Given the description of an element on the screen output the (x, y) to click on. 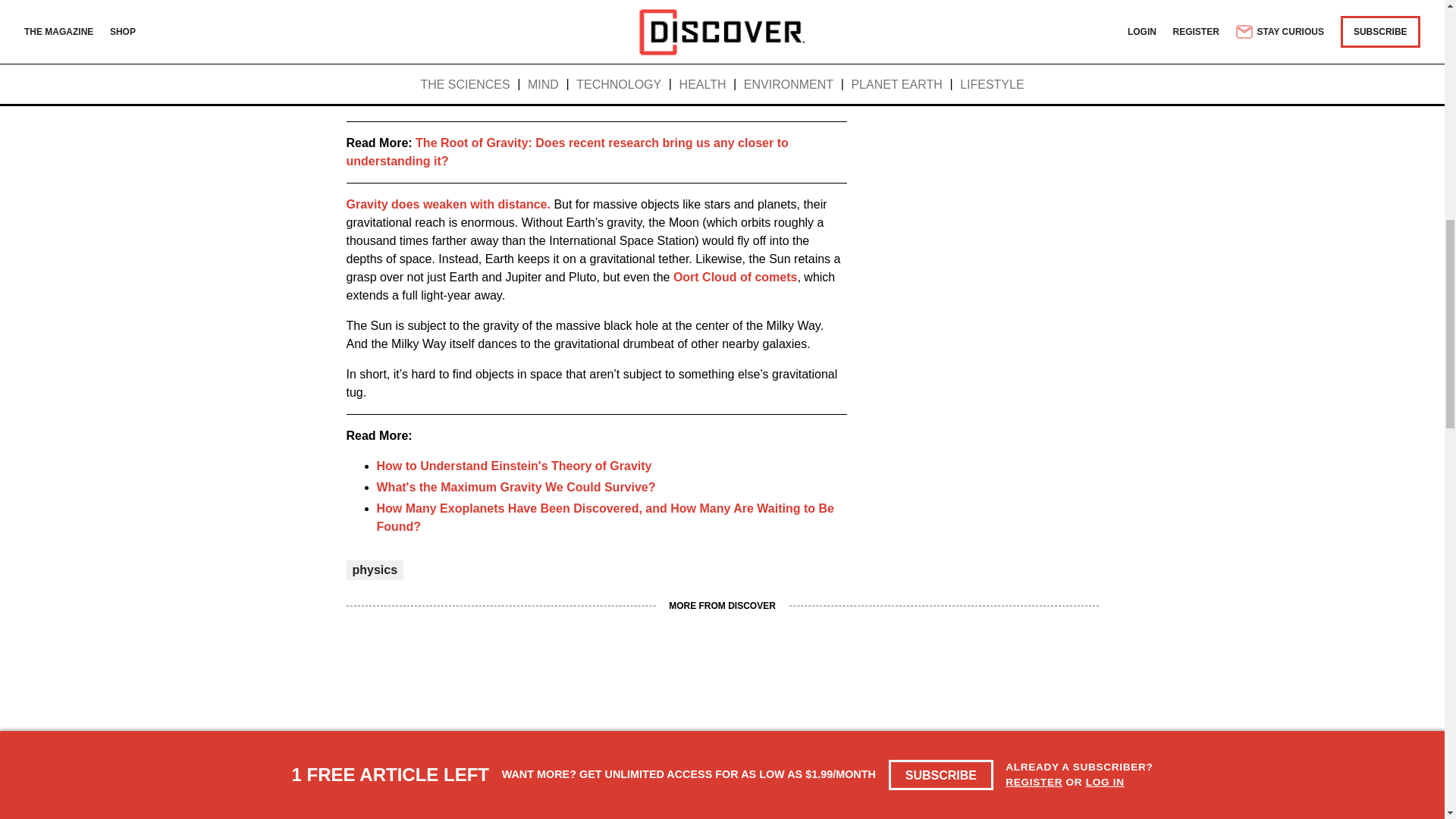
floating astronaut videos (664, 1)
What's the Maximum Gravity We Could Survive? (515, 486)
physics (374, 569)
moving fast enough (428, 99)
Gravity does weaken with distance. (448, 204)
How to Understand Einstein's Theory of Gravity (512, 465)
Oort Cloud of comets (734, 277)
gravity (382, 32)
